Given the description of an element on the screen output the (x, y) to click on. 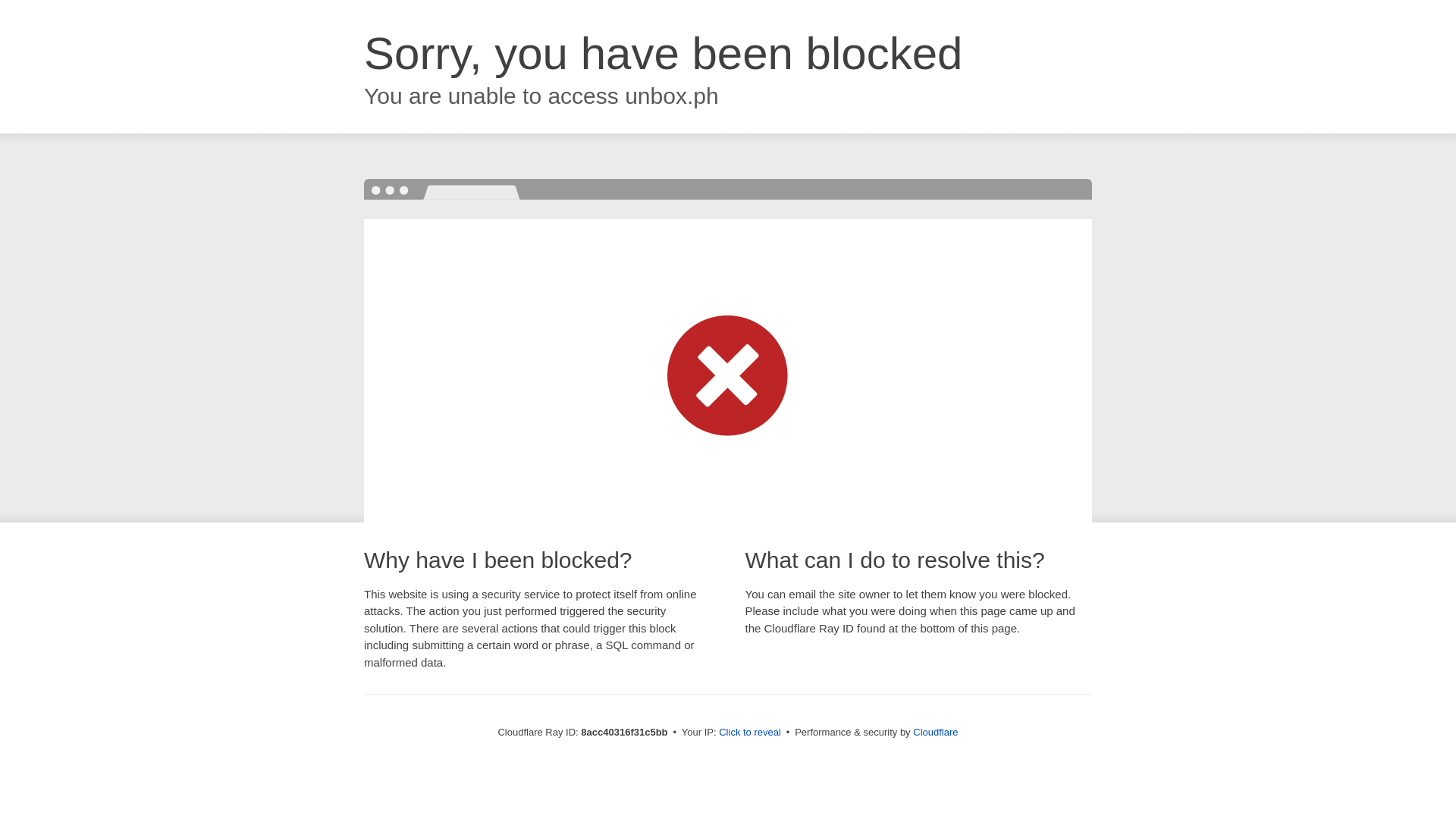
Cloudflare (935, 731)
Click to reveal (749, 732)
